Given the description of an element on the screen output the (x, y) to click on. 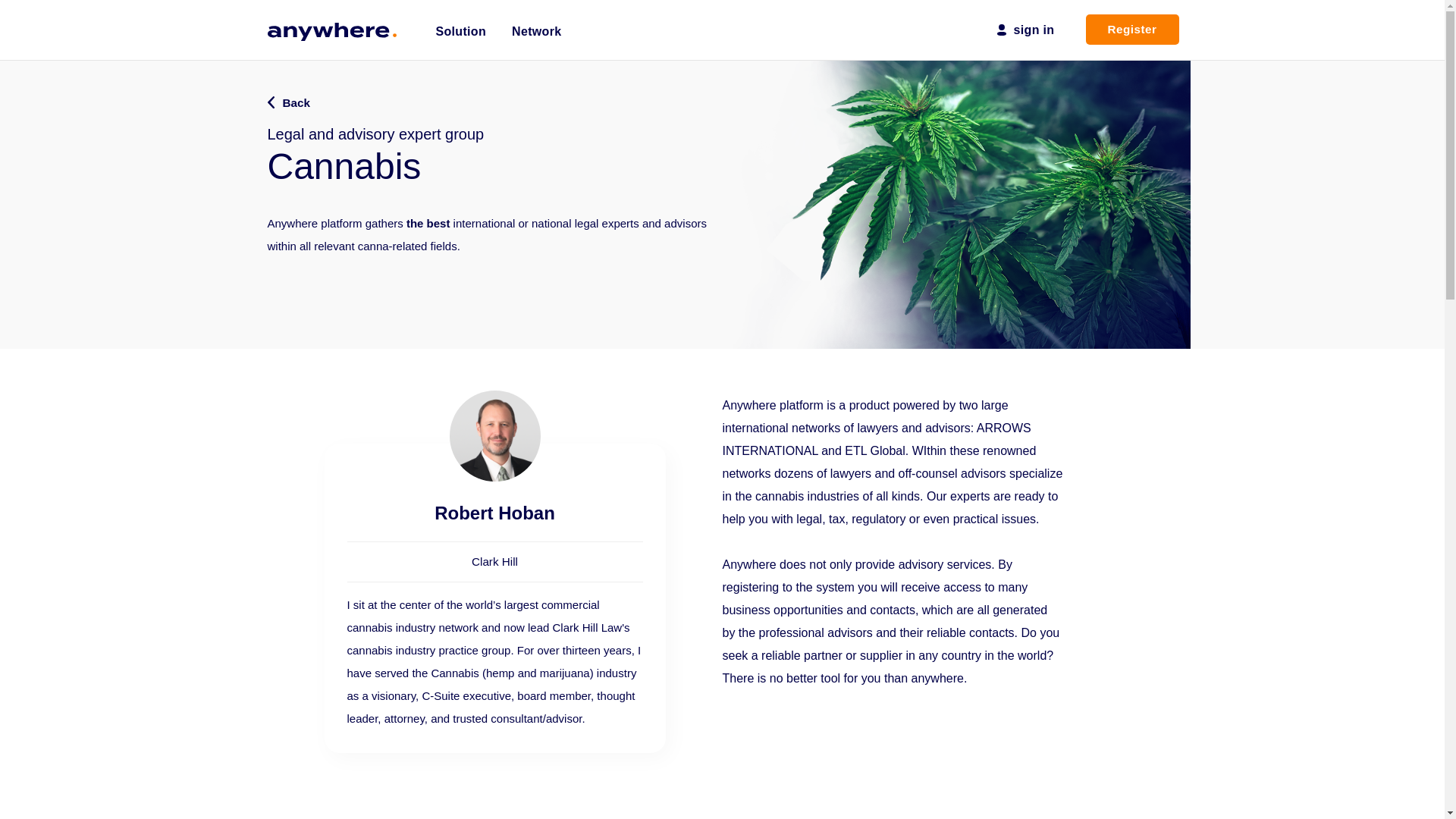
Network (536, 22)
sign in (1042, 29)
Register (1132, 29)
Back (287, 103)
Solution (460, 22)
